Given the description of an element on the screen output the (x, y) to click on. 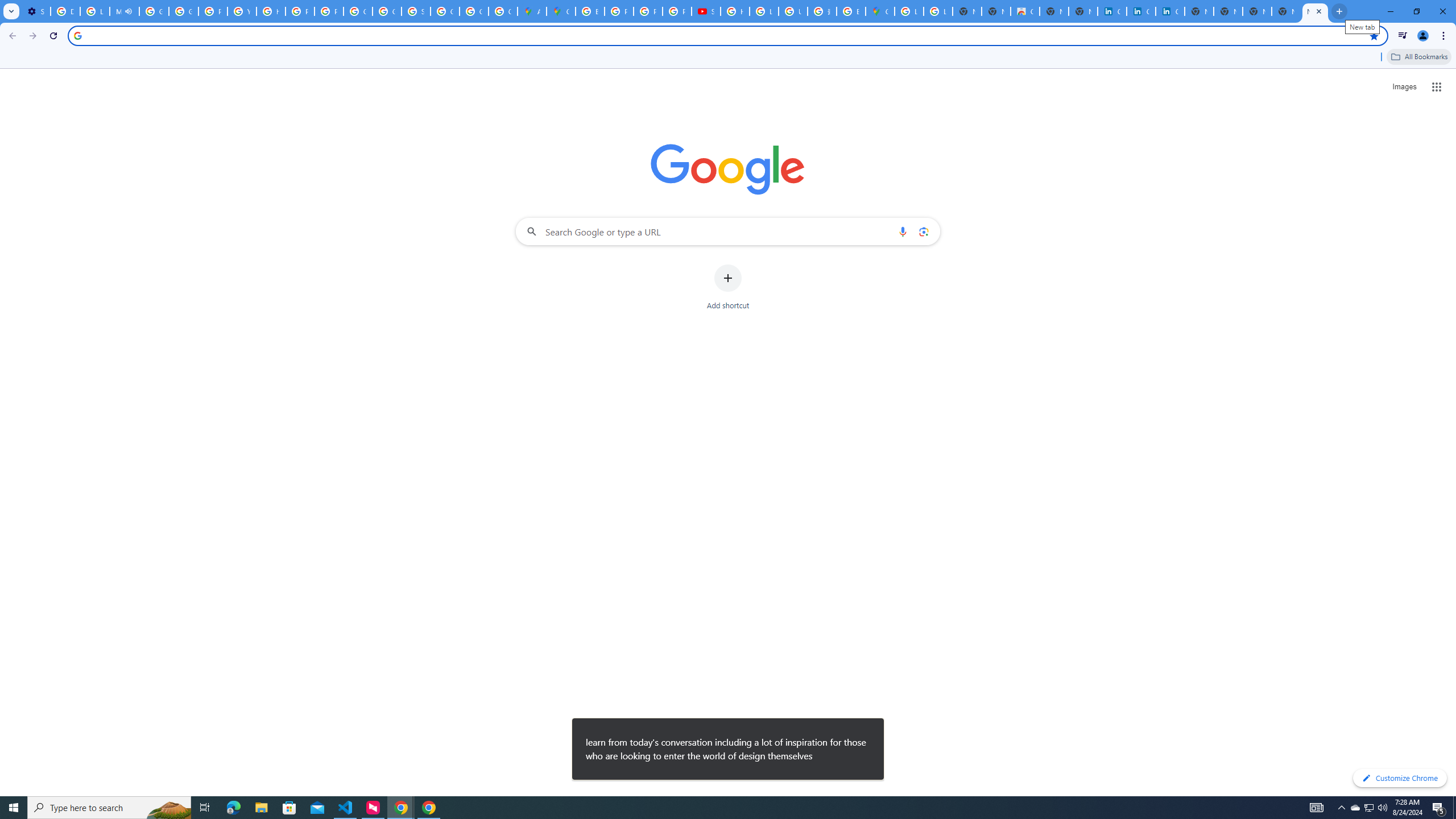
New Tab (1256, 11)
Chrome Web Store (1025, 11)
New Tab (1315, 11)
Privacy Help Center - Policies Help (212, 11)
Privacy Help Center - Policies Help (648, 11)
